Given the description of an element on the screen output the (x, y) to click on. 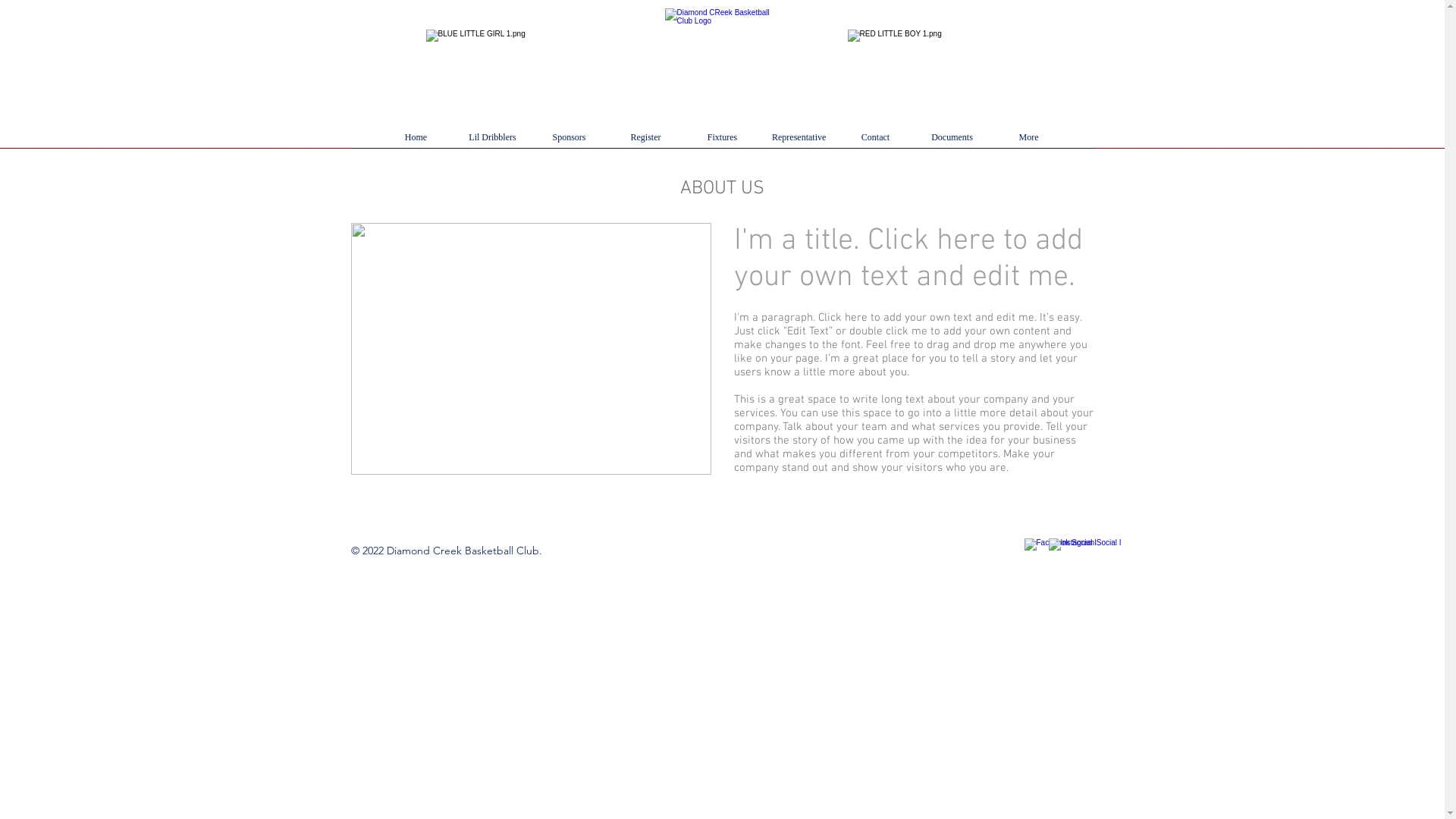
Documents Element type: text (951, 142)
Register Element type: text (645, 142)
Logo.png Element type: hover (724, 67)
Lil Dribblers Element type: text (492, 142)
Contact Element type: text (875, 142)
Representative Element type: text (798, 142)
Sponsors Element type: text (568, 142)
Fixtures Element type: text (722, 142)
Home Element type: text (415, 142)
